Given the description of an element on the screen output the (x, y) to click on. 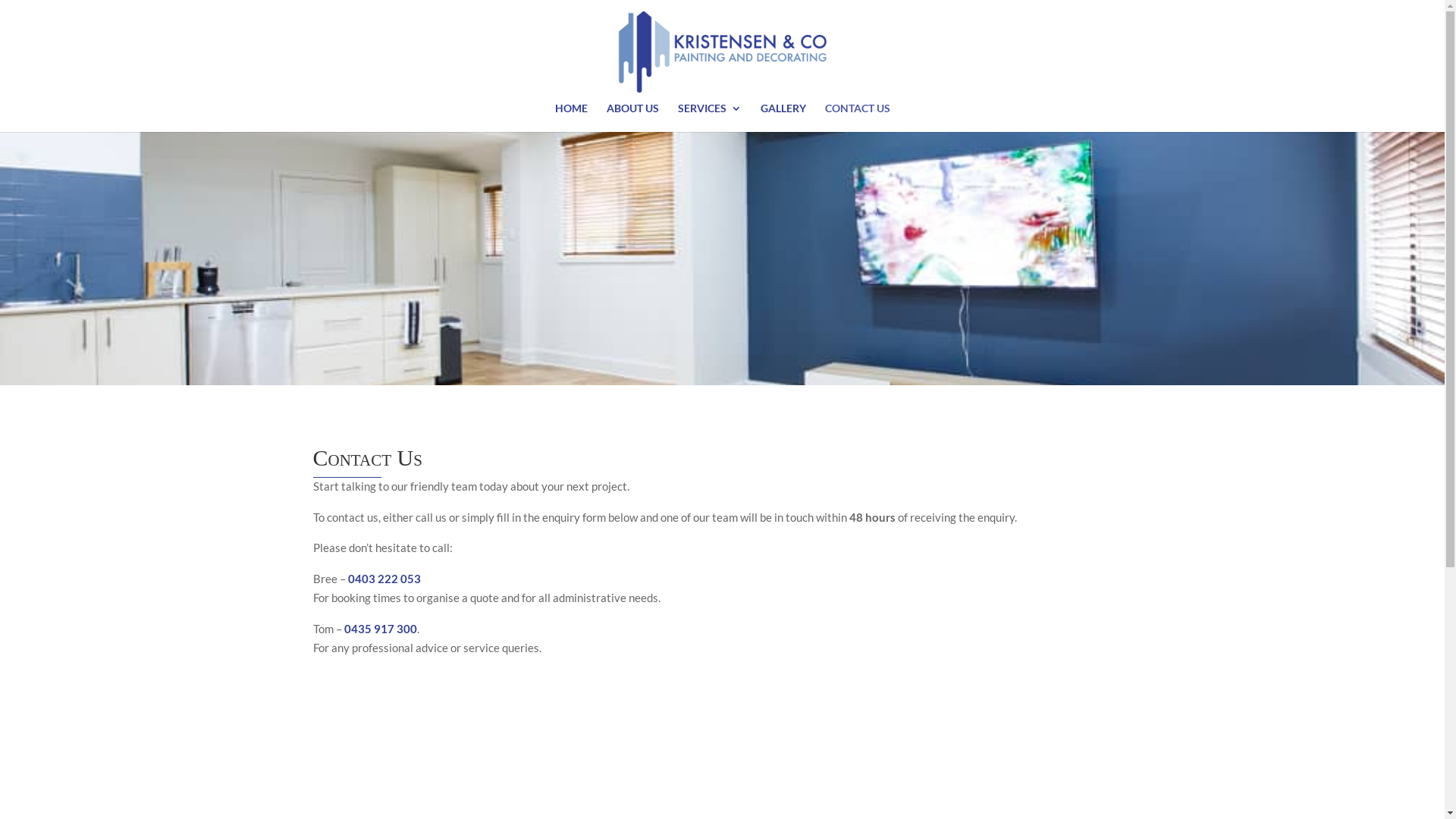
0435 917 300 Element type: text (380, 628)
CONTACT US Element type: text (857, 117)
HOME Element type: text (571, 117)
0403 222 053 Element type: text (383, 578)
GALLERY Element type: text (782, 117)
ABOUT US Element type: text (632, 117)
SERVICES Element type: text (709, 117)
